Given the description of an element on the screen output the (x, y) to click on. 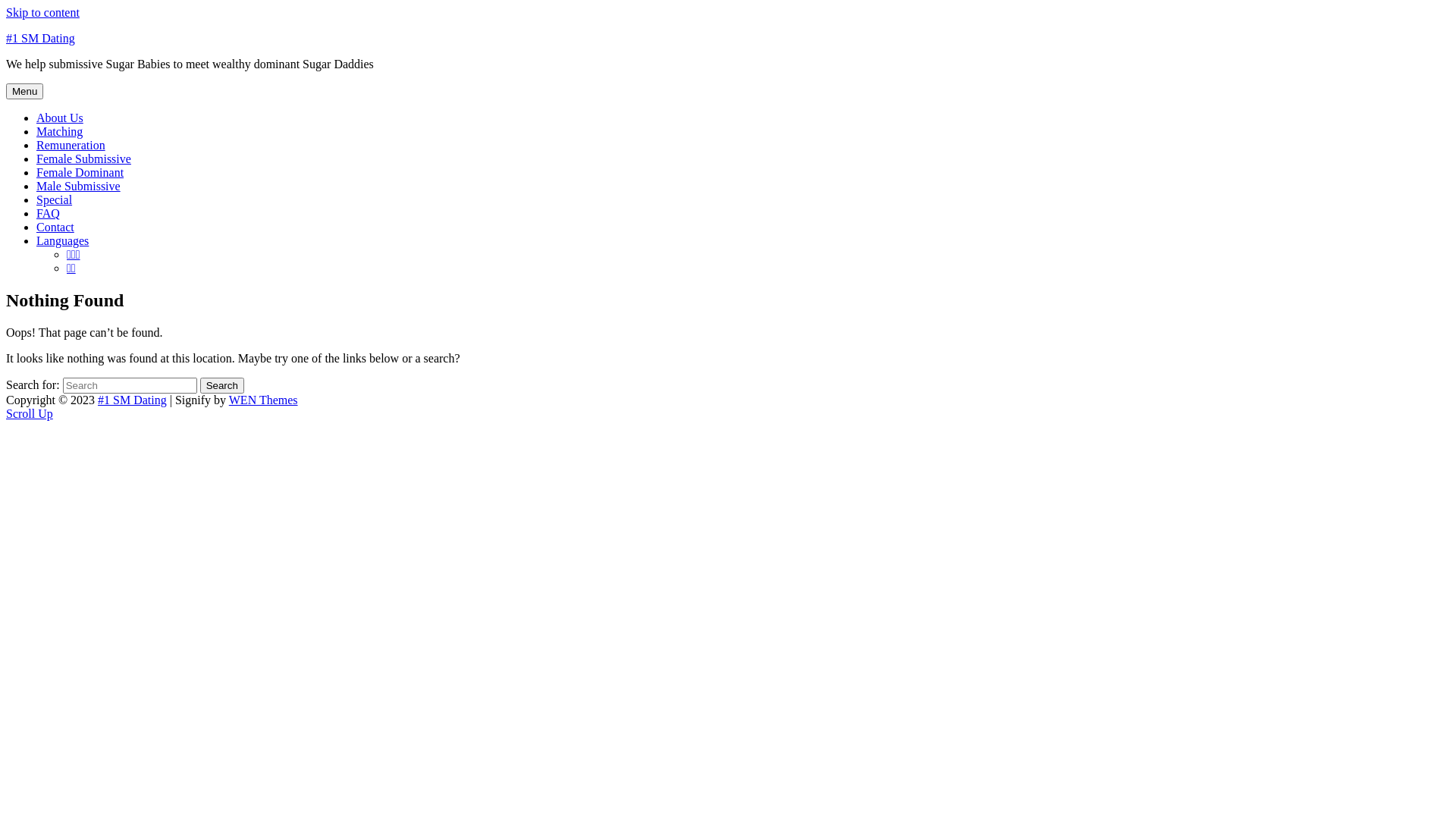
Male Submissive Element type: text (78, 185)
Scroll Up Element type: text (29, 413)
Search Element type: text (222, 385)
Female Submissive Element type: text (83, 158)
Languages Element type: text (62, 240)
Contact Element type: text (55, 226)
Remuneration Element type: text (70, 144)
Matching Element type: text (59, 131)
Special Element type: text (54, 199)
Skip to content Element type: text (42, 12)
Female Dominant Element type: text (79, 172)
WEN Themes Element type: text (263, 399)
FAQ Element type: text (47, 213)
Menu Element type: text (24, 91)
#1 SM Dating Element type: text (131, 399)
#1 SM Dating Element type: text (40, 37)
About Us Element type: text (59, 117)
